Given the description of an element on the screen output the (x, y) to click on. 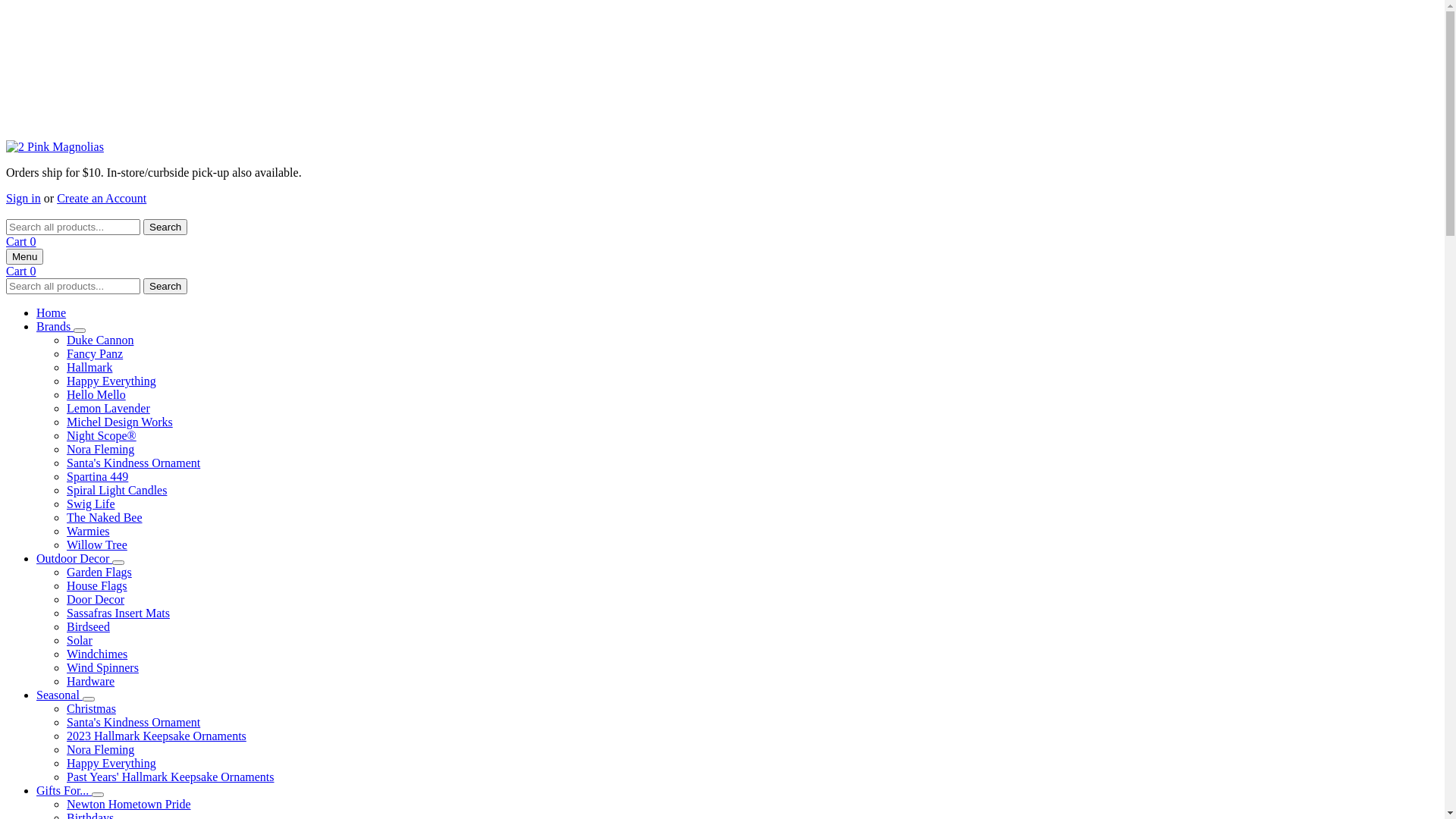
Search Element type: text (165, 227)
Spartina 449 Element type: text (97, 476)
Willow Tree Element type: text (96, 544)
Newton Hometown Pride Element type: text (128, 803)
Home Element type: text (50, 312)
Sign in Element type: text (23, 197)
Birdseed Element type: text (87, 626)
Christmas Element type: text (91, 708)
Windchimes Element type: text (96, 653)
The Naked Bee Element type: text (104, 517)
Solar Element type: text (79, 639)
Happy Everything Element type: text (111, 762)
Cart 0 Element type: text (21, 241)
Create an Account Element type: text (101, 197)
Lemon Lavender Element type: text (108, 407)
Menu Element type: text (24, 256)
Michel Design Works Element type: text (119, 421)
Santa's Kindness Ornament Element type: text (133, 721)
Warmies Element type: text (87, 530)
Hello Mello Element type: text (95, 394)
Gifts For... Element type: text (63, 790)
Brands Element type: text (54, 326)
Fancy Panz Element type: text (94, 353)
Happy Everything Element type: text (111, 380)
Door Decor Element type: text (95, 599)
Hardware Element type: text (90, 680)
Garden Flags Element type: text (98, 571)
Past Years' Hallmark Keepsake Ornaments Element type: text (169, 776)
Seasonal Element type: text (59, 694)
Wind Spinners Element type: text (102, 667)
Swig Life Element type: text (90, 503)
Hallmark Element type: text (89, 366)
House Flags Element type: text (96, 585)
Sassafras Insert Mats Element type: text (117, 612)
Search Element type: text (165, 286)
Nora Fleming Element type: text (100, 749)
Cart 0 Element type: text (21, 270)
Santa's Kindness Ornament Element type: text (133, 462)
2023 Hallmark Keepsake Ornaments Element type: text (156, 735)
Spiral Light Candles Element type: text (116, 489)
Nora Fleming Element type: text (100, 448)
Duke Cannon Element type: text (99, 339)
Outdoor Decor Element type: text (74, 558)
